Given the description of an element on the screen output the (x, y) to click on. 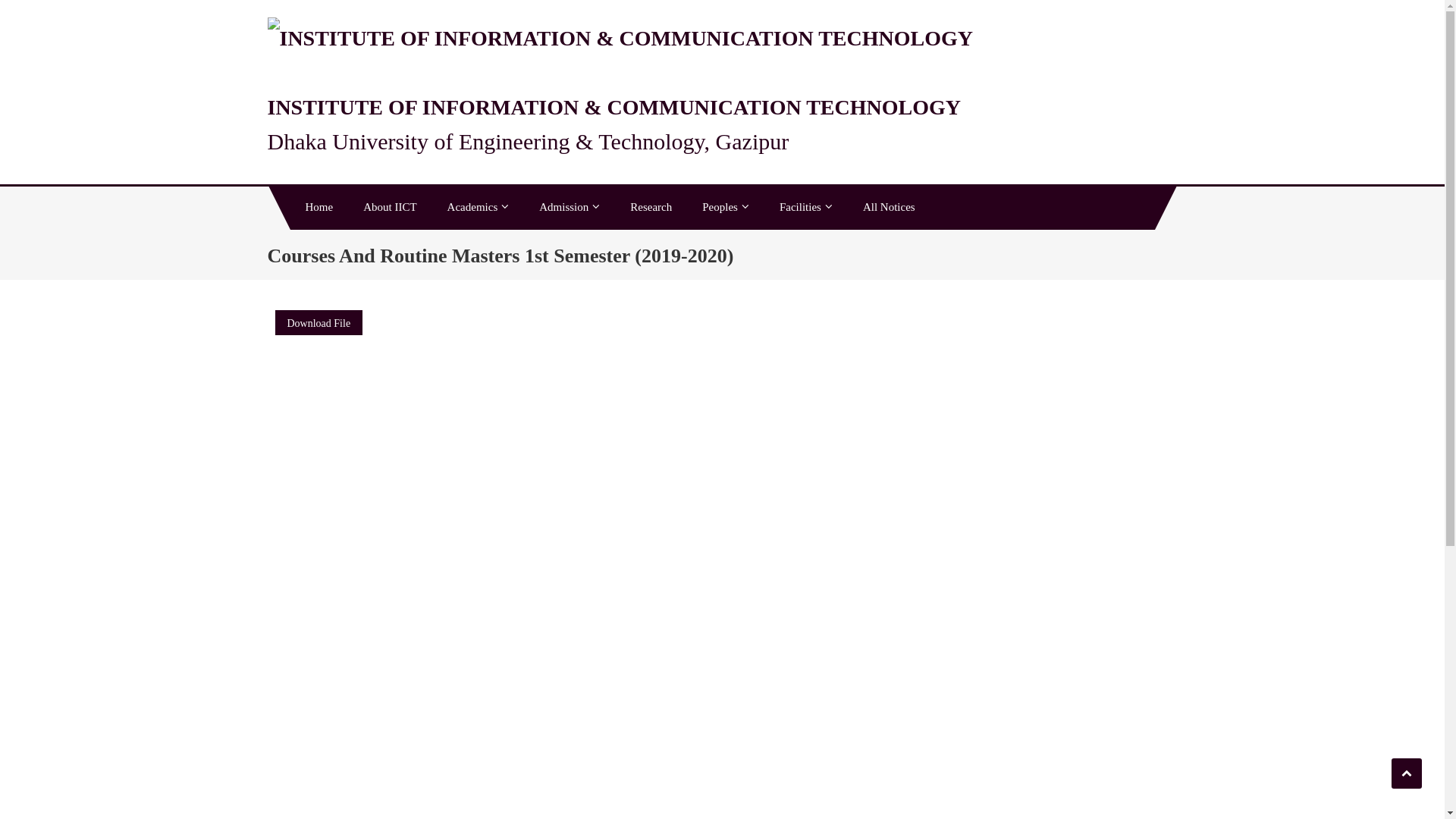
INSTITUTE OF INFORMATION & COMMUNICATION TECHNOLOGY Element type: text (613, 107)
Peoples Element type: text (725, 206)
Facilities Element type: text (805, 206)
Academics Element type: text (478, 206)
Admission Element type: text (569, 206)
All Notices Element type: text (888, 206)
About IICT Element type: text (389, 206)
Download File Element type: text (318, 322)
Download File Element type: text (318, 325)
Research Element type: text (651, 206)
Home Element type: text (318, 206)
